Given the description of an element on the screen output the (x, y) to click on. 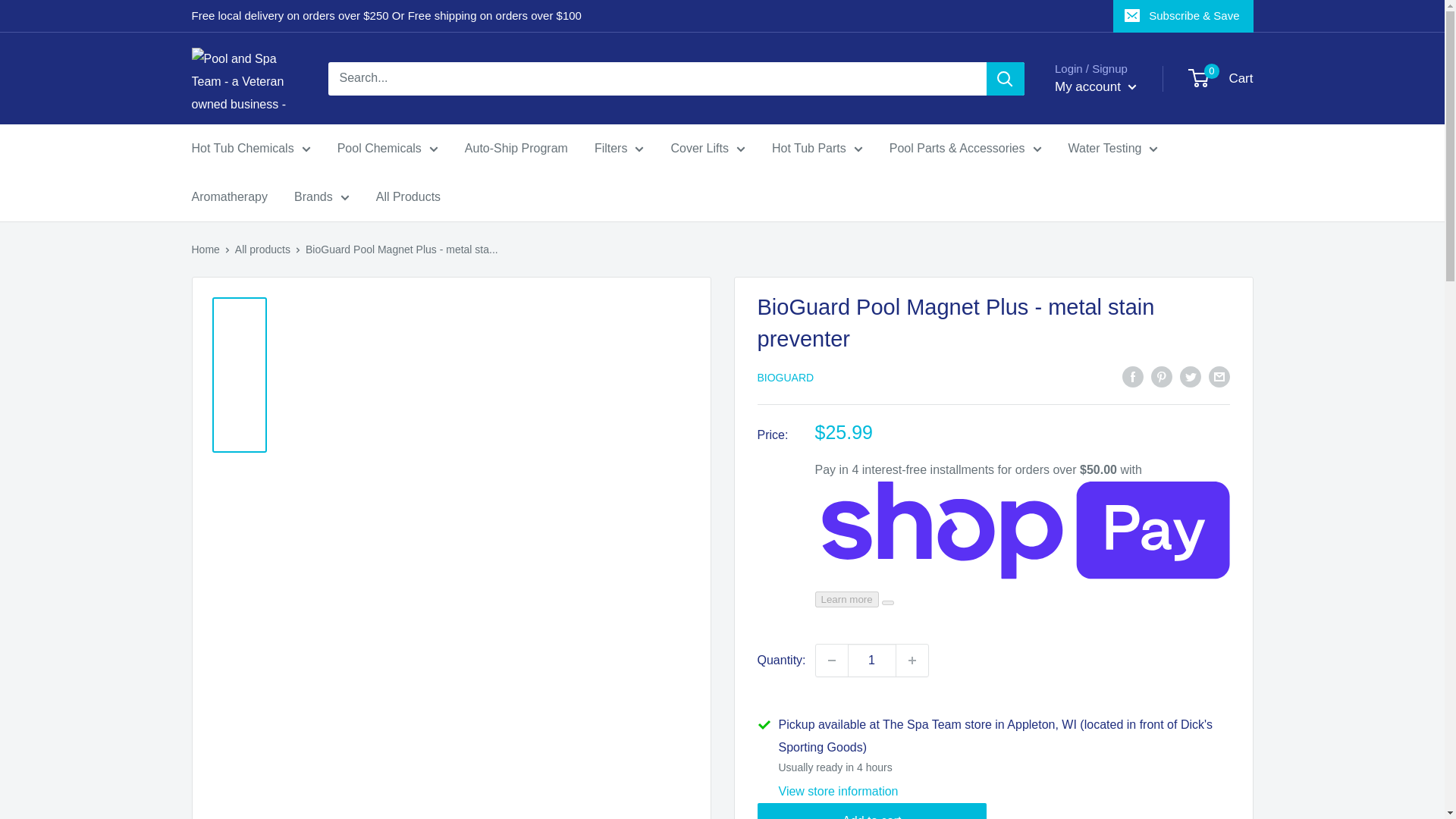
1 (871, 660)
Increase quantity by 1 (912, 660)
Decrease quantity by 1 (831, 660)
